Given the description of an element on the screen output the (x, y) to click on. 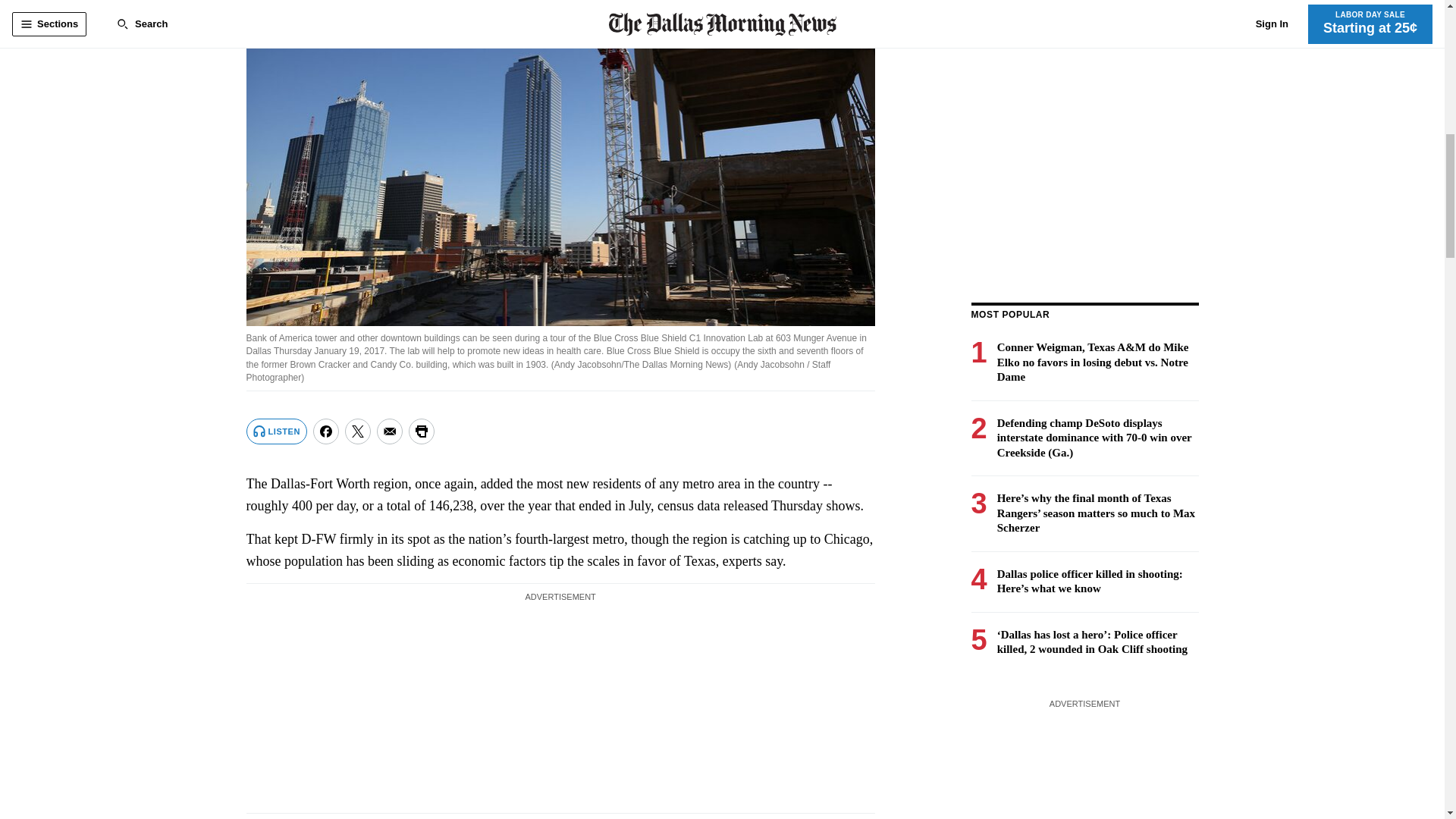
Print (421, 431)
Share via Email (390, 431)
Share on Twitter (358, 431)
Share on Facebook (326, 431)
